Given the description of an element on the screen output the (x, y) to click on. 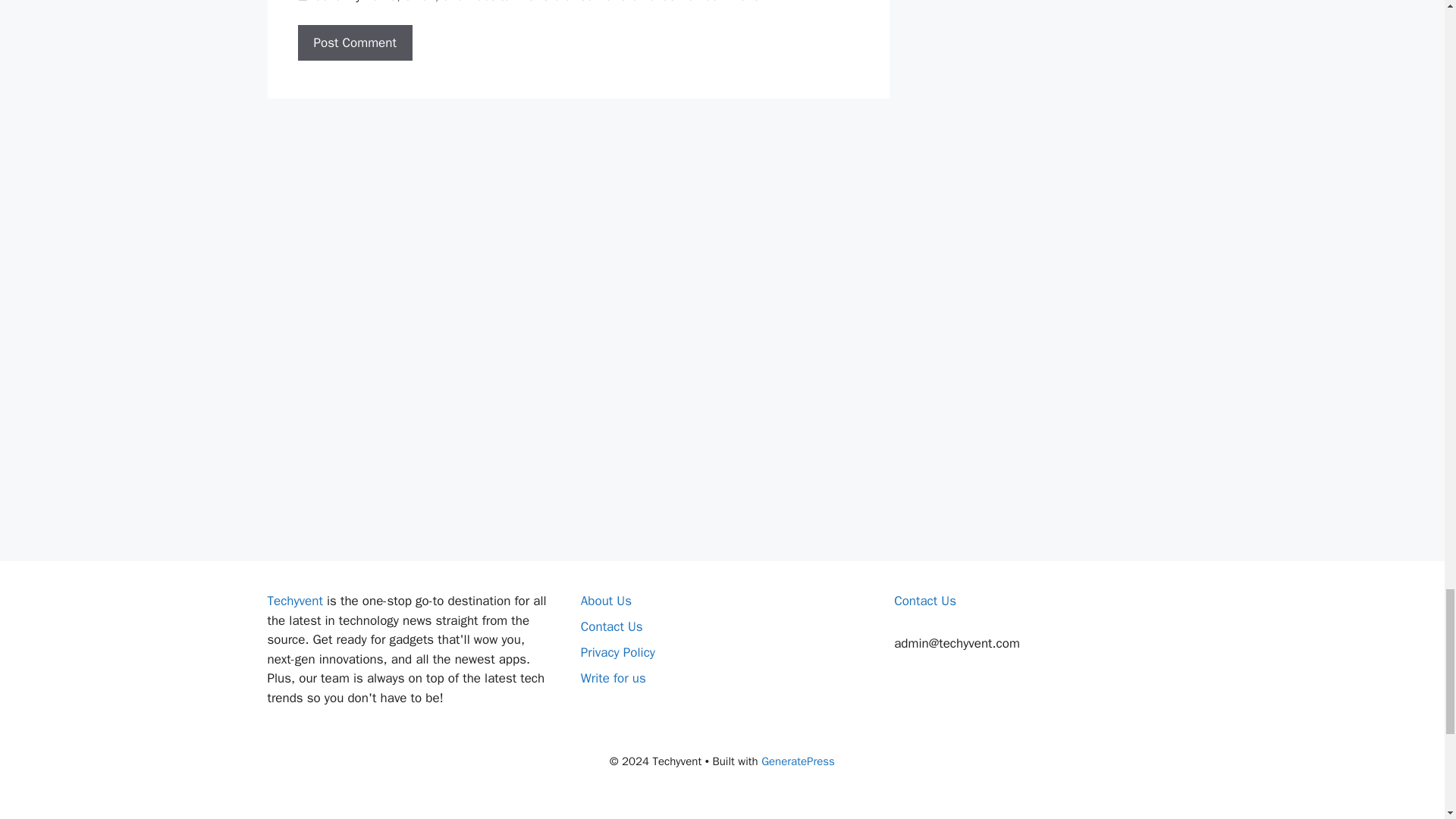
Techyvent (293, 600)
Privacy Policy (617, 652)
GeneratePress (797, 761)
Post Comment (354, 43)
Contact Us (611, 626)
Write for us (613, 678)
Post Comment (354, 43)
About Us (605, 600)
